Given the description of an element on the screen output the (x, y) to click on. 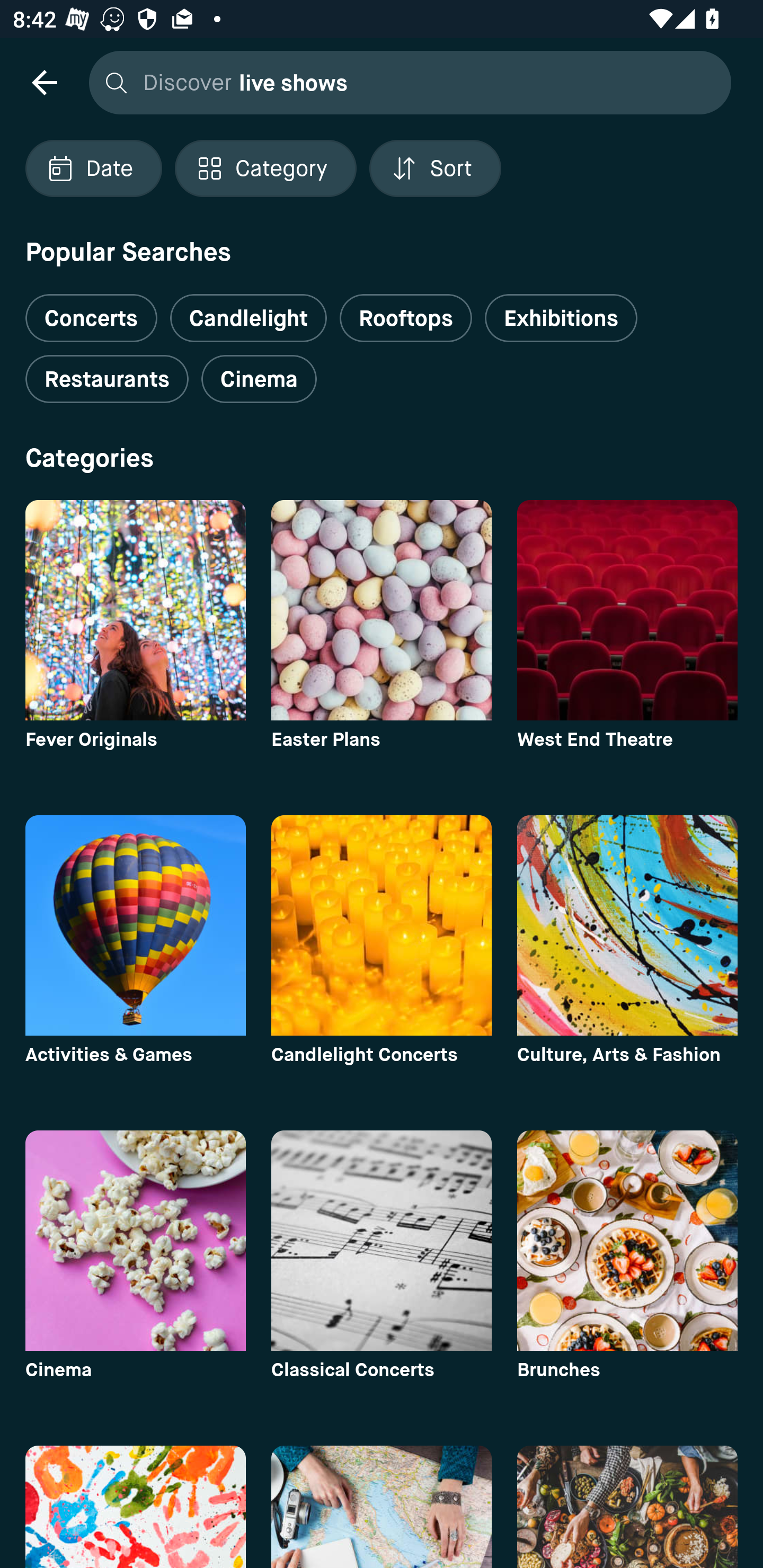
navigation icon (44, 81)
Discover live shows (405, 81)
Localized description Date (93, 168)
Localized description Category (265, 168)
Localized description Sort (435, 168)
Concerts (91, 310)
Candlelight (248, 317)
Rooftops (405, 317)
Exhibitions (560, 317)
Restaurants (106, 379)
Cinema (258, 379)
category image (135, 609)
category image (381, 609)
category image (627, 609)
category image (135, 924)
category image (381, 924)
category image (627, 924)
category image (135, 1240)
category image (381, 1240)
category image (627, 1240)
category image (135, 1506)
category image (381, 1506)
category image (627, 1506)
